Given the description of an element on the screen output the (x, y) to click on. 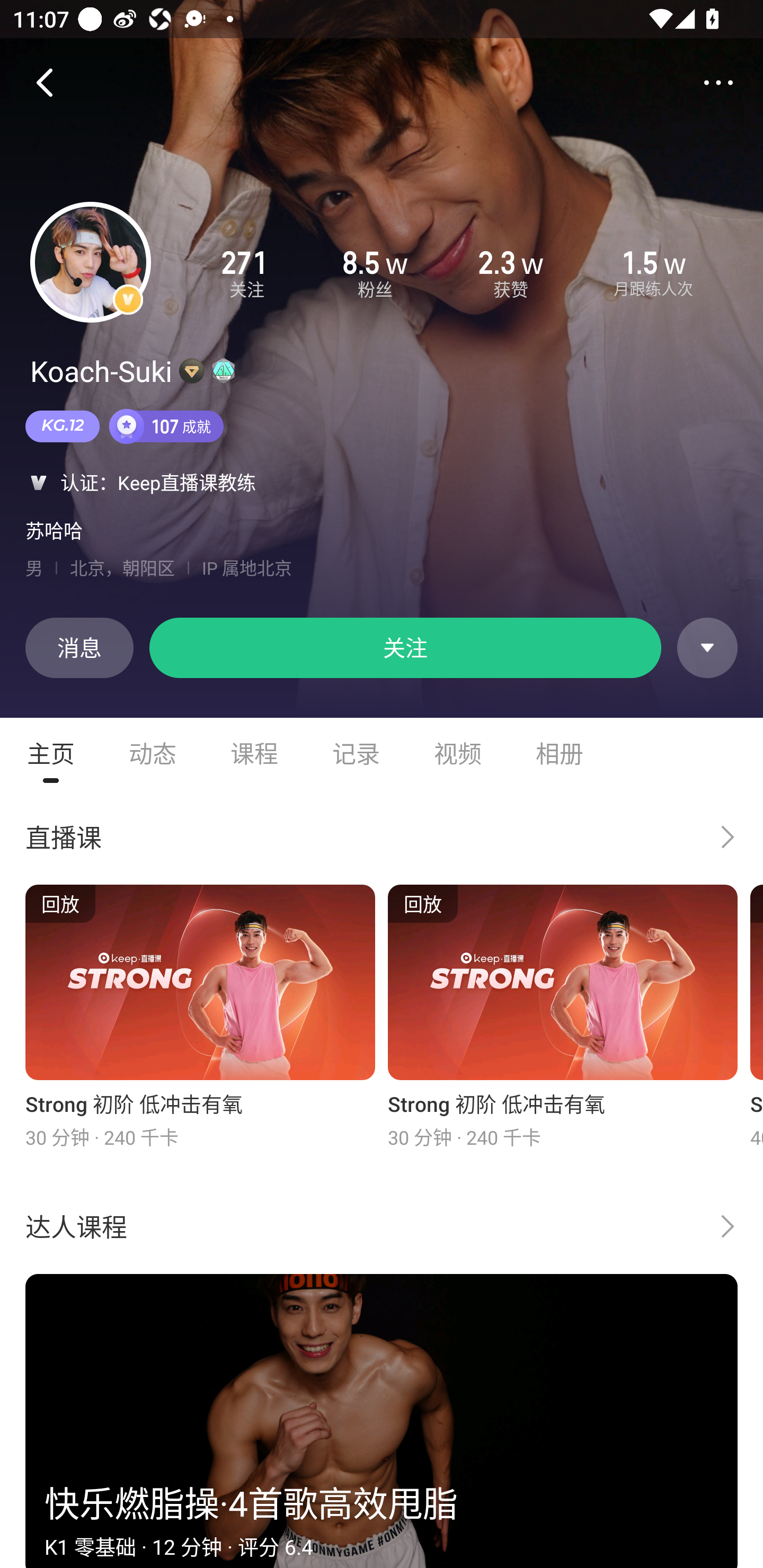
107 成就 (166, 426)
认证： Keep直播课教练 (381, 481)
消息 (79, 647)
关注 (405, 647)
主页 (50, 753)
动态 (152, 753)
课程 (254, 753)
记录 (355, 753)
视频 (457, 753)
相册 (559, 753)
直播课 更多 (381, 836)
回放 Strong 初阶 低冲击有氧 30 分钟 · 240 千卡 (200, 1016)
回放 Strong 初阶 低冲击有氧 30 分钟 · 240 千卡 (562, 1016)
达人课程 更多 (381, 1226)
快乐燃脂操·4首歌高效甩脂 K1 零基础 · 12 分钟 · 评分 6.4 (381, 1420)
